Given the description of an element on the screen output the (x, y) to click on. 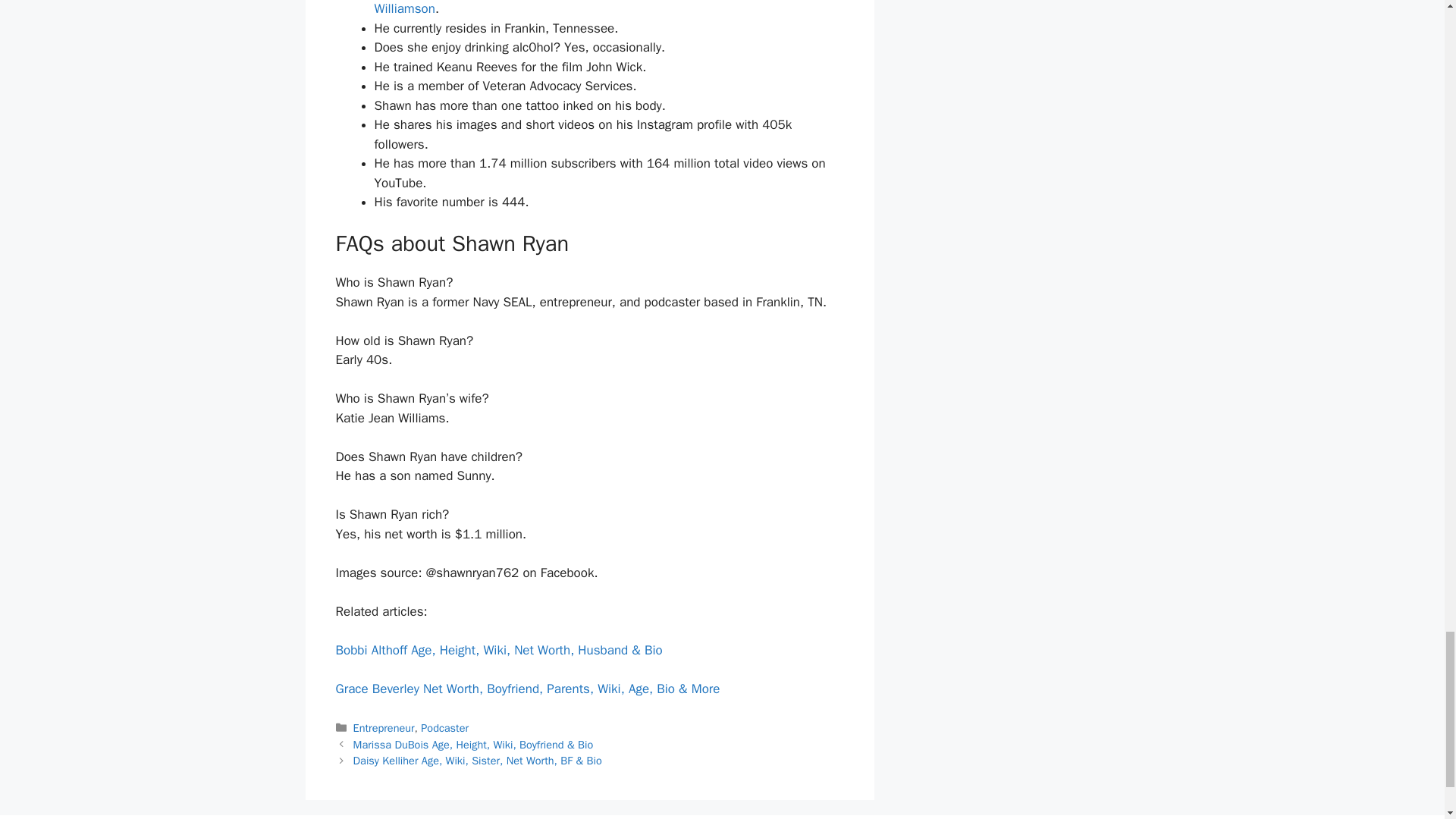
Podcaster (444, 727)
Chris Williamson (595, 8)
Entrepreneur (383, 727)
